Given the description of an element on the screen output the (x, y) to click on. 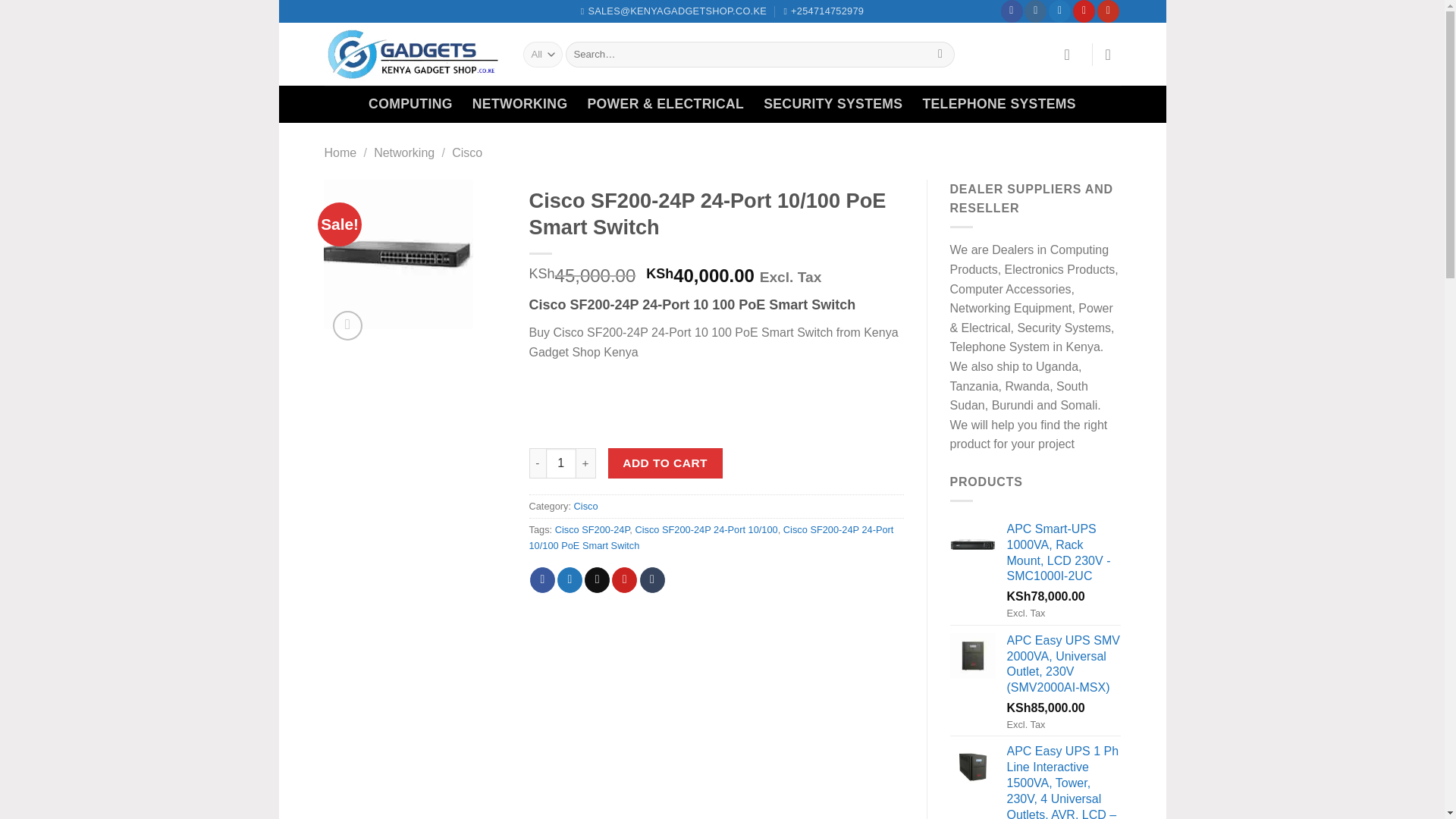
Cisco (585, 505)
ADD TO CART (665, 462)
Cisco SF200-24P (592, 529)
Networking (403, 152)
COMPUTING (410, 103)
Share on Facebook (541, 579)
1 (561, 462)
Zoom (347, 325)
NETWORKING (519, 103)
Kenya Gadgets shop - Telephone and Electronic Shop (412, 54)
Cisco (466, 152)
Home (340, 152)
